Given the description of an element on the screen output the (x, y) to click on. 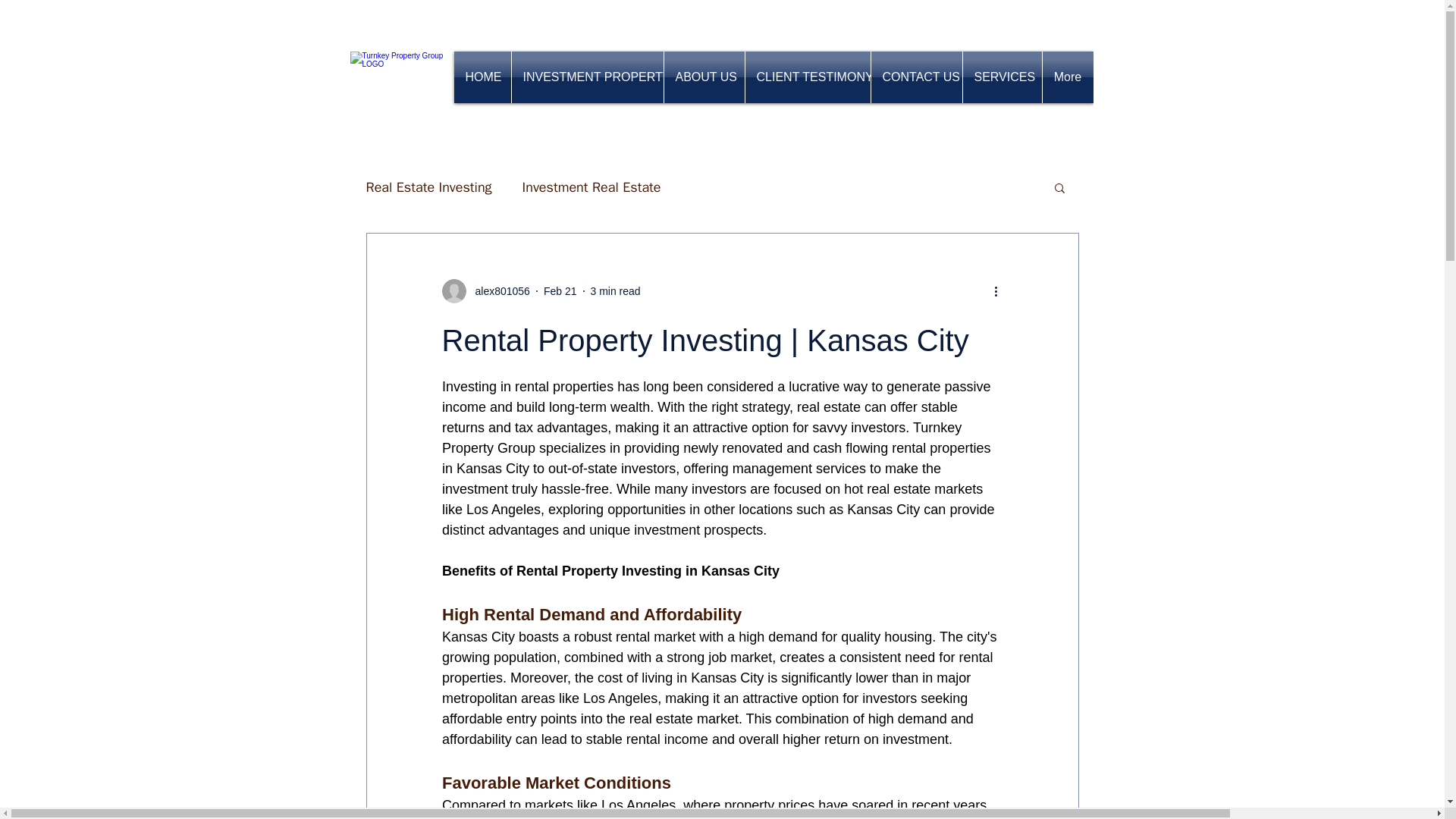
Real Estate Investing (428, 187)
ABOUT US (703, 77)
Investment Real Estate (591, 187)
CLIENT TESTIMONY (806, 77)
HOME (481, 77)
alex801056 (485, 291)
CONTACT US (915, 77)
alex801056 (497, 291)
INVESTMENT PROPERTY (586, 77)
Feb 21 (559, 291)
